Given the description of an element on the screen output the (x, y) to click on. 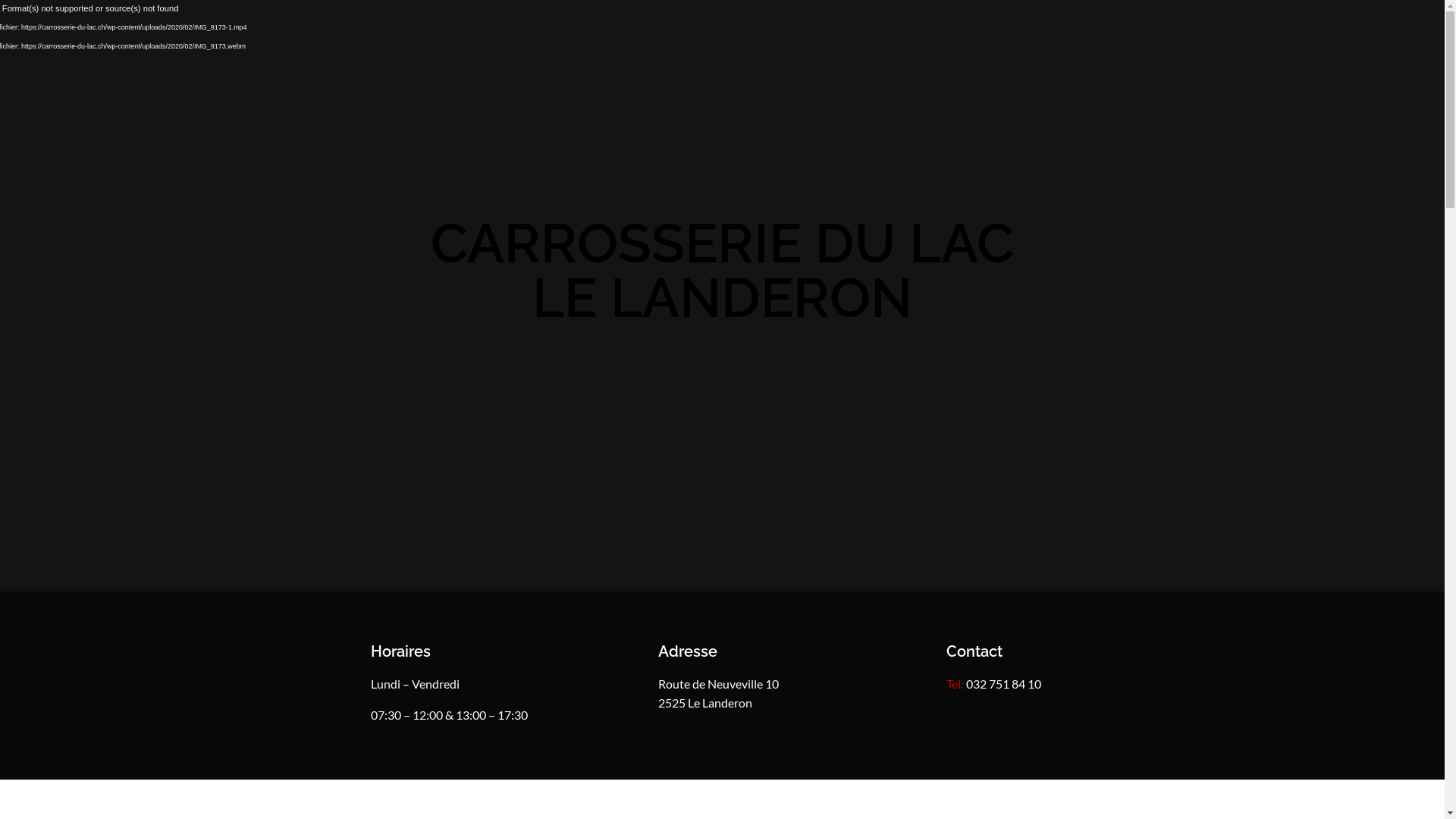
032 751 84 10 Element type: text (1003, 683)
